Given the description of an element on the screen output the (x, y) to click on. 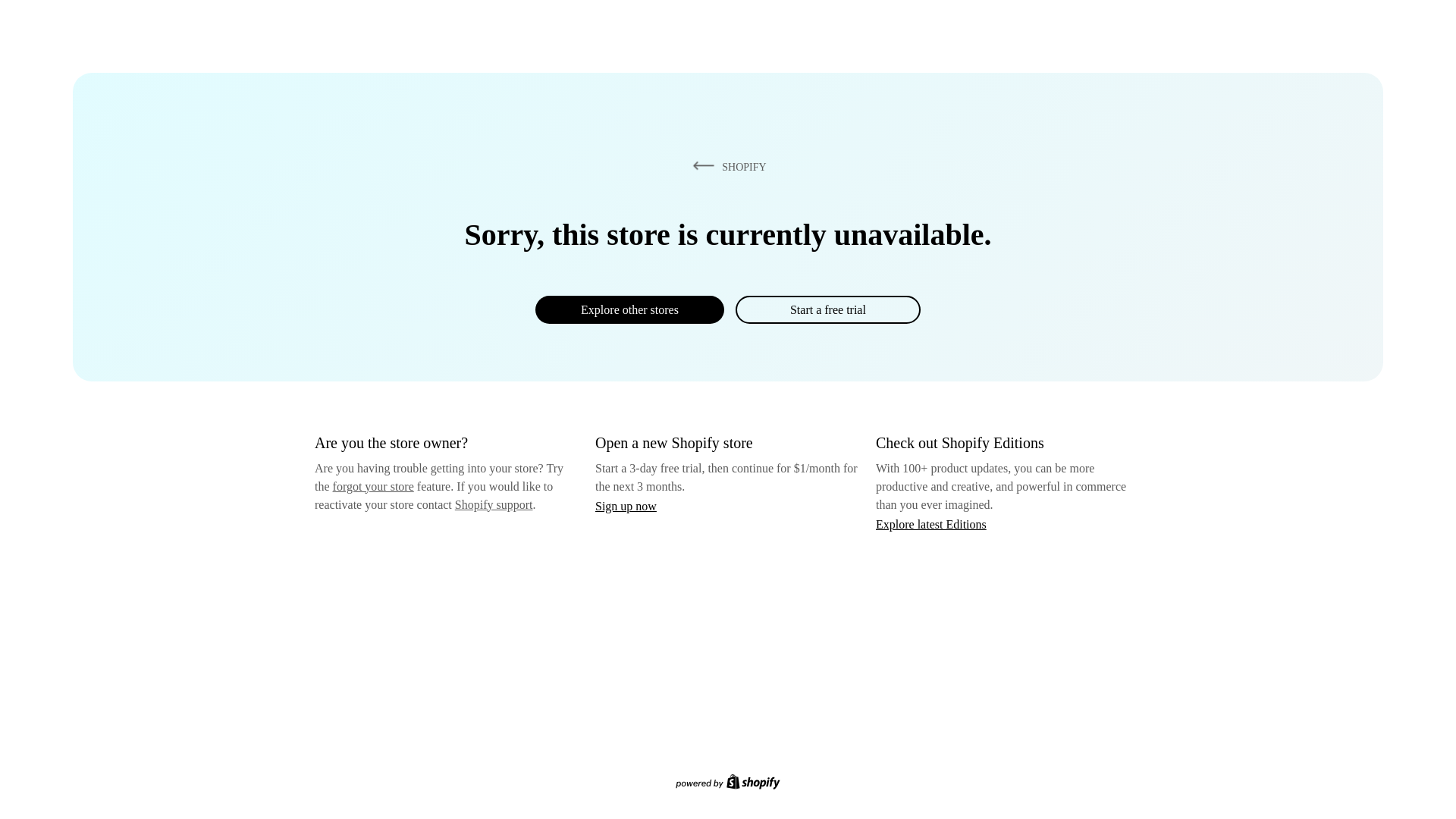
Start a free trial (827, 309)
SHOPIFY (726, 166)
Sign up now (625, 505)
Explore other stores (629, 309)
forgot your store (373, 486)
Shopify support (493, 504)
Explore latest Editions (931, 523)
